Given the description of an element on the screen output the (x, y) to click on. 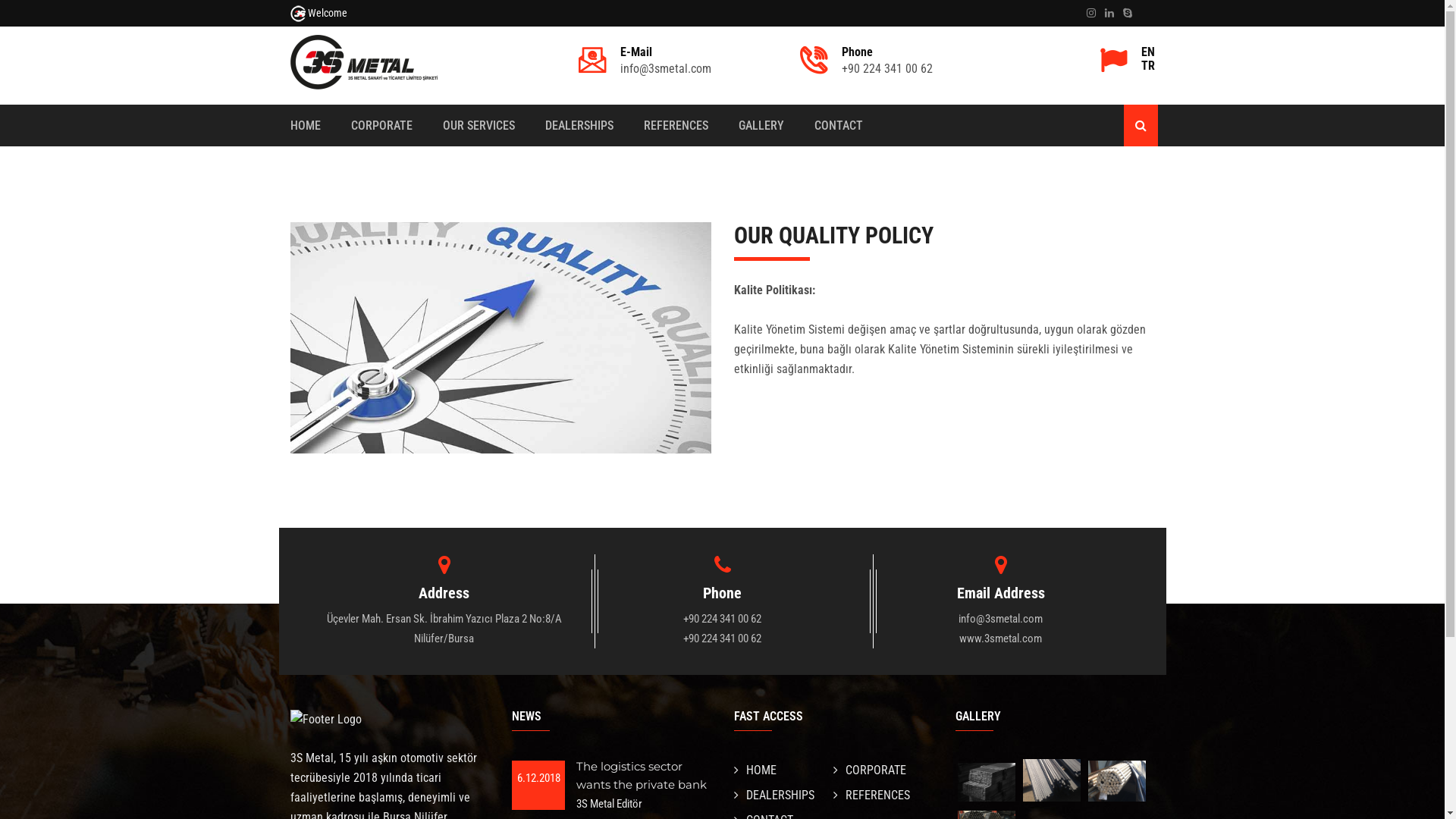
TR Element type: text (1147, 65)
E-Mail
info@3smetal.com Element type: text (665, 60)
DEALERSHIPS Element type: text (774, 794)
Phone
+90 224 341 00 62 Element type: text (886, 60)
DEALERSHIPS Element type: text (578, 125)
GALLERY Element type: text (761, 125)
CONTACT Element type: text (838, 125)
REFERENCES Element type: text (871, 794)
CORPORATE Element type: text (869, 769)
OUR SERVICES Element type: text (478, 125)
REFERENCES Element type: text (675, 125)
HOME Element type: text (755, 769)
The logistics sector wants the private bank Element type: text (641, 775)
HOME Element type: text (304, 125)
CORPORATE Element type: text (380, 125)
